Given the description of an element on the screen output the (x, y) to click on. 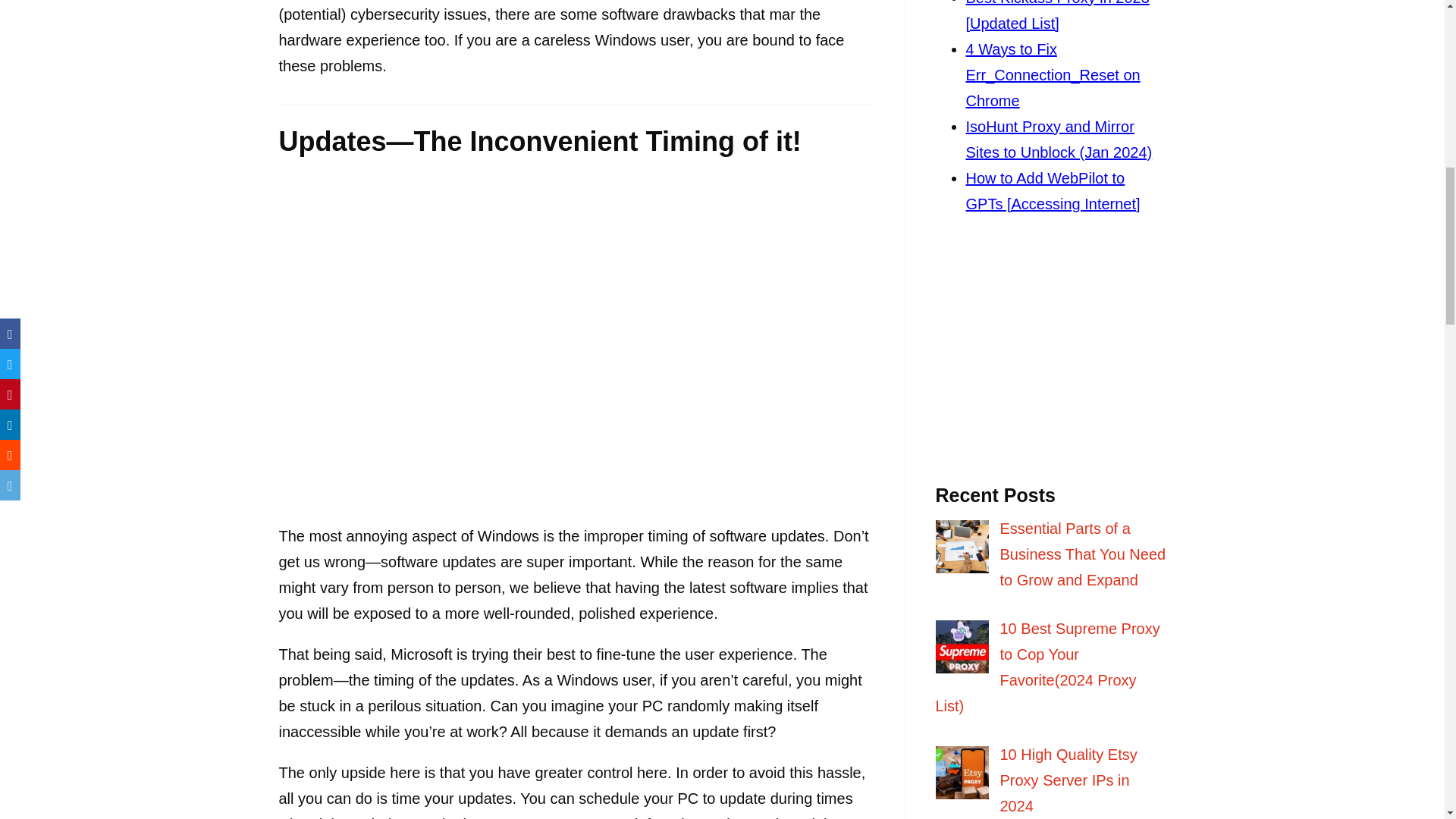
Advertisement (1051, 357)
